Given the description of an element on the screen output the (x, y) to click on. 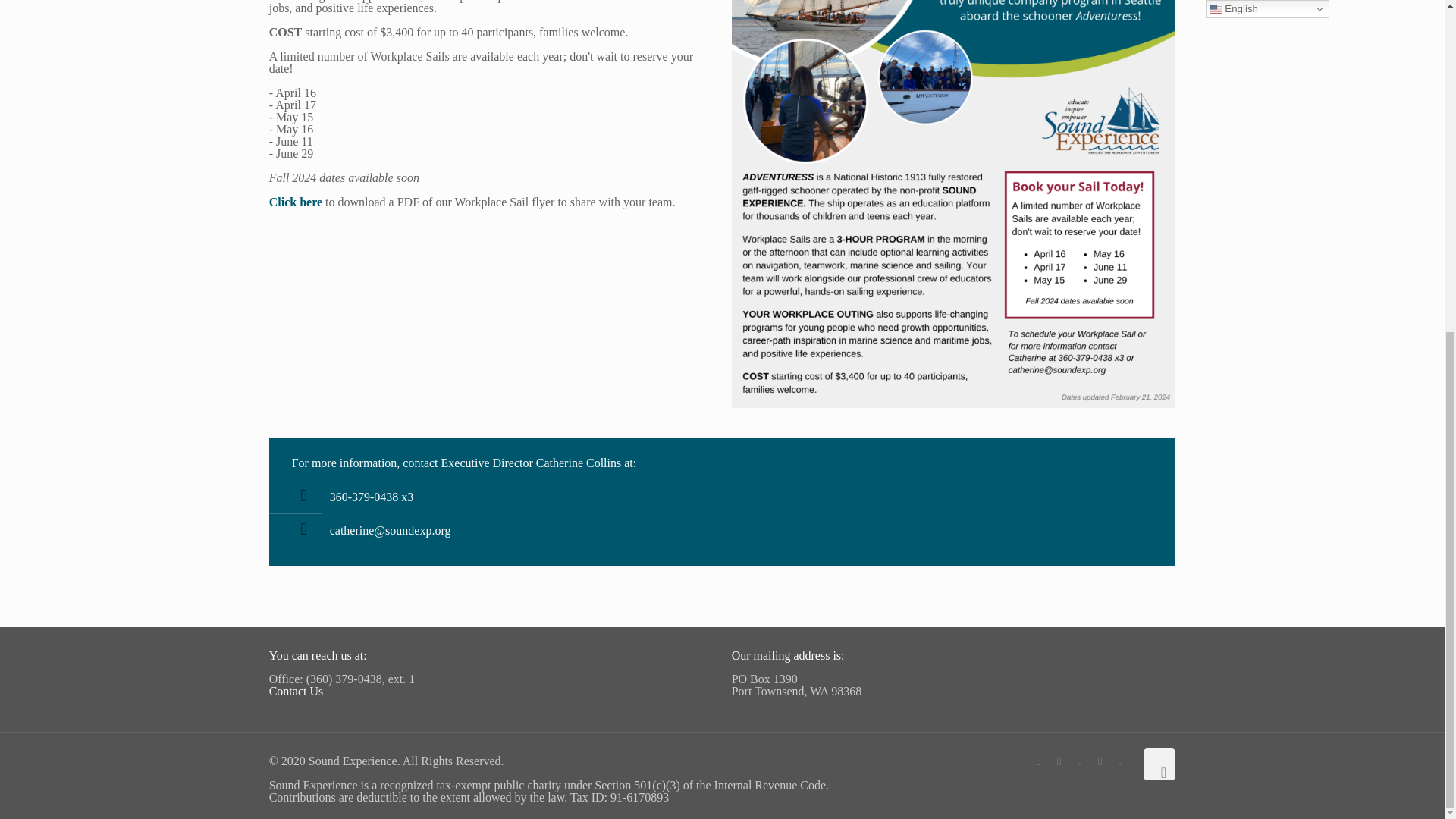
Flickr (1100, 761)
YouTube (1079, 761)
Twitter (1059, 761)
Facebook (1038, 761)
Instagram (1120, 761)
